Given the description of an element on the screen output the (x, y) to click on. 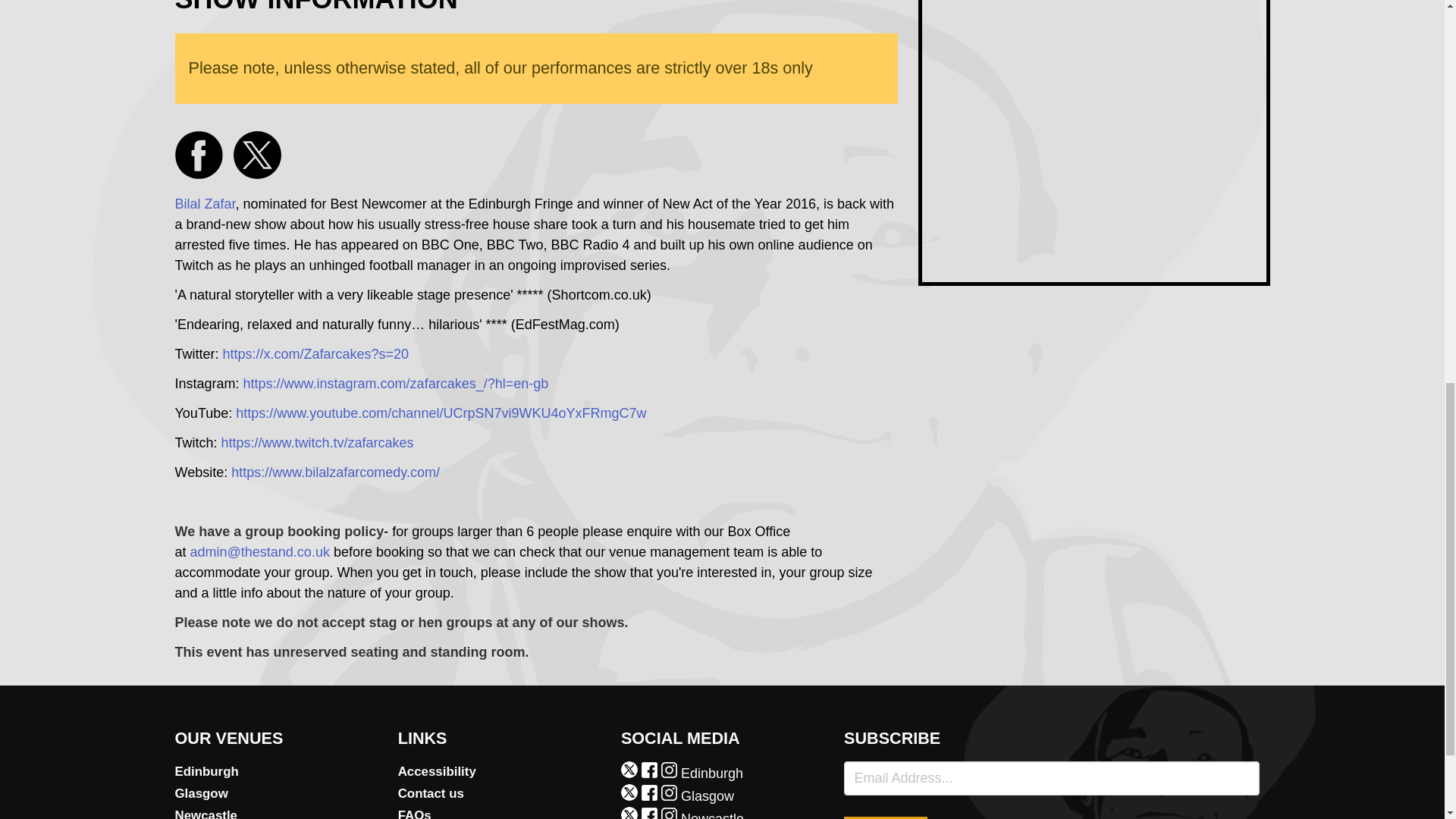
Edinburgh Facebook Link (651, 773)
Newcastle (275, 811)
Accessibility (498, 771)
Newcastle Facebook Link (651, 815)
Glasgow Facebook Link (651, 795)
Edinburgh Instagram Link (671, 773)
Glasgow Instagram Link (671, 795)
Contact us (498, 793)
Edinburgh (275, 771)
Glasgow (275, 793)
Newcastle Twitter link (631, 815)
Bilal Zafar (204, 203)
Edinburgh Twitter link (631, 773)
FAQs (498, 811)
Newcastle Instagram Link (671, 815)
